Given the description of an element on the screen output the (x, y) to click on. 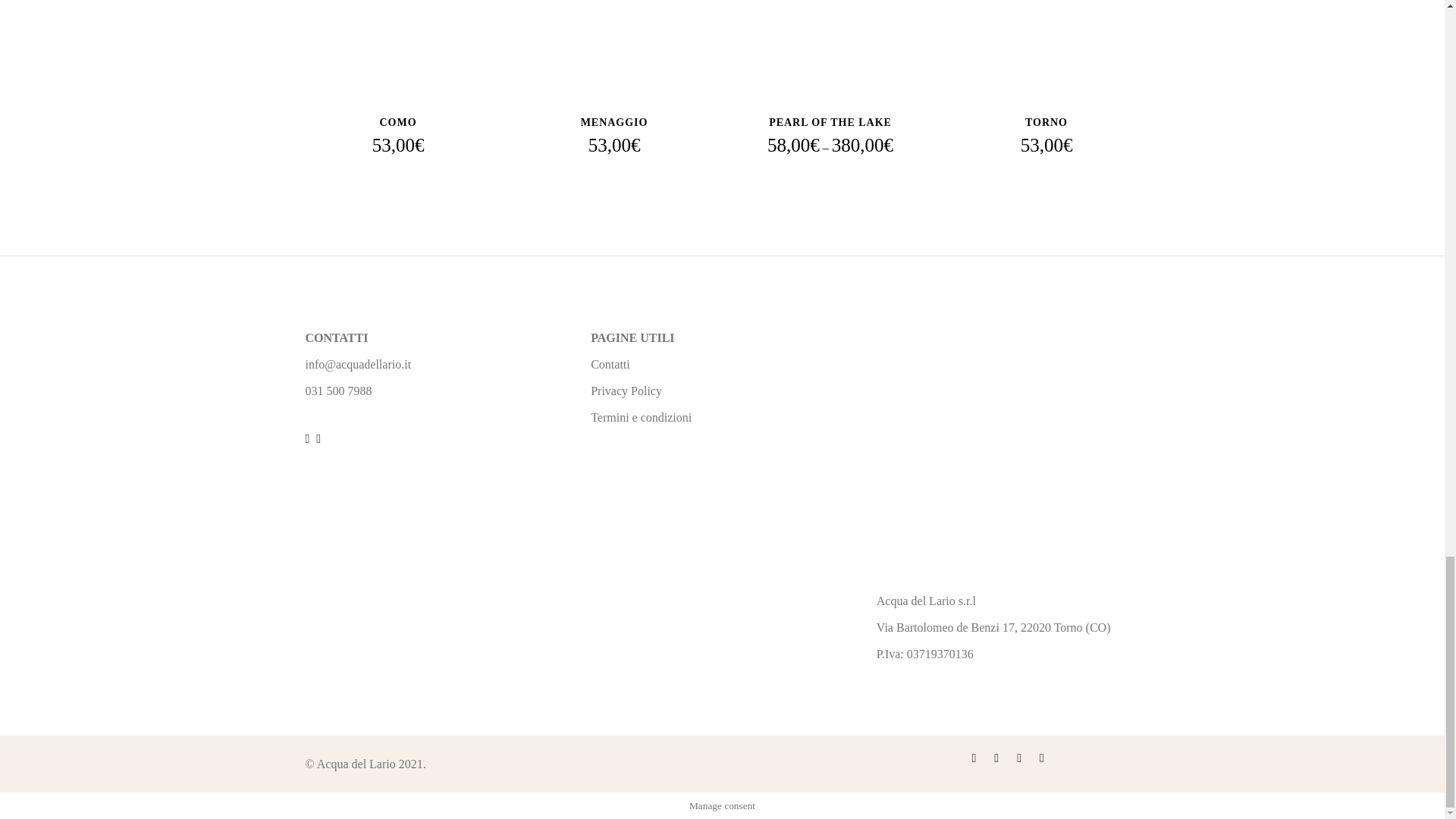
COMO (397, 122)
MENAGGIO (613, 122)
